Given the description of an element on the screen output the (x, y) to click on. 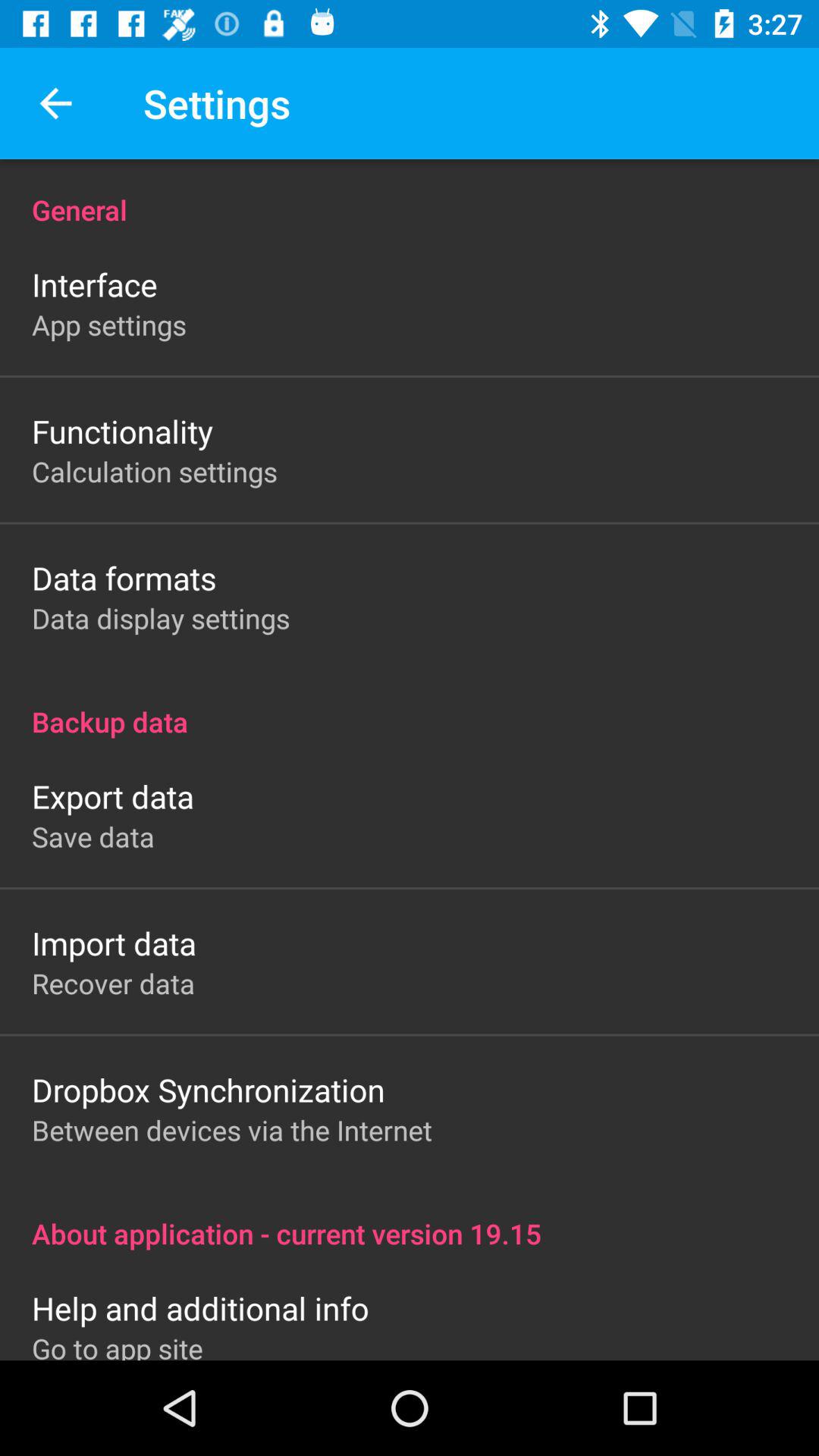
open the calculation settings item (154, 471)
